Given the description of an element on the screen output the (x, y) to click on. 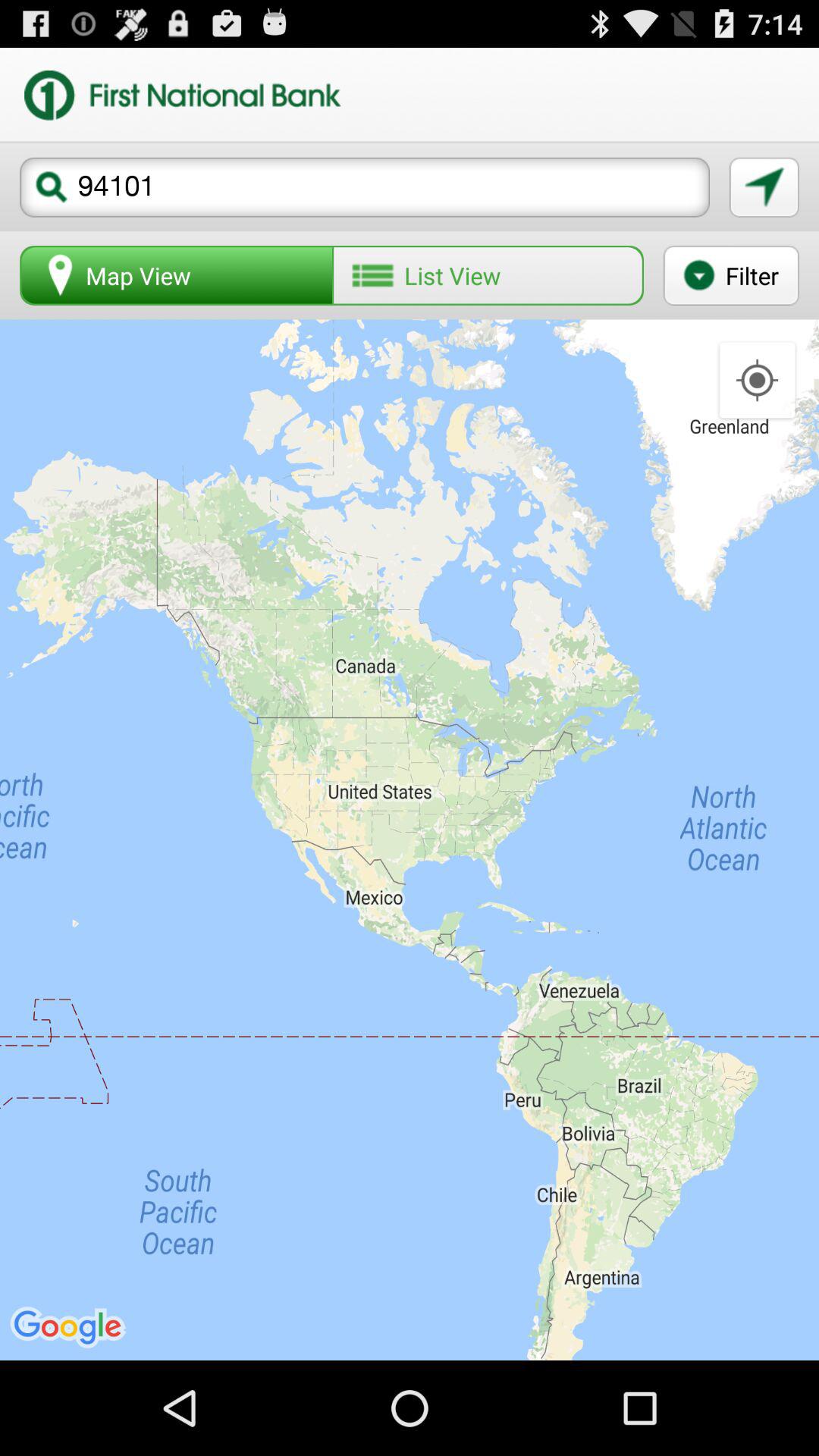
launch button below the filter (757, 381)
